Given the description of an element on the screen output the (x, y) to click on. 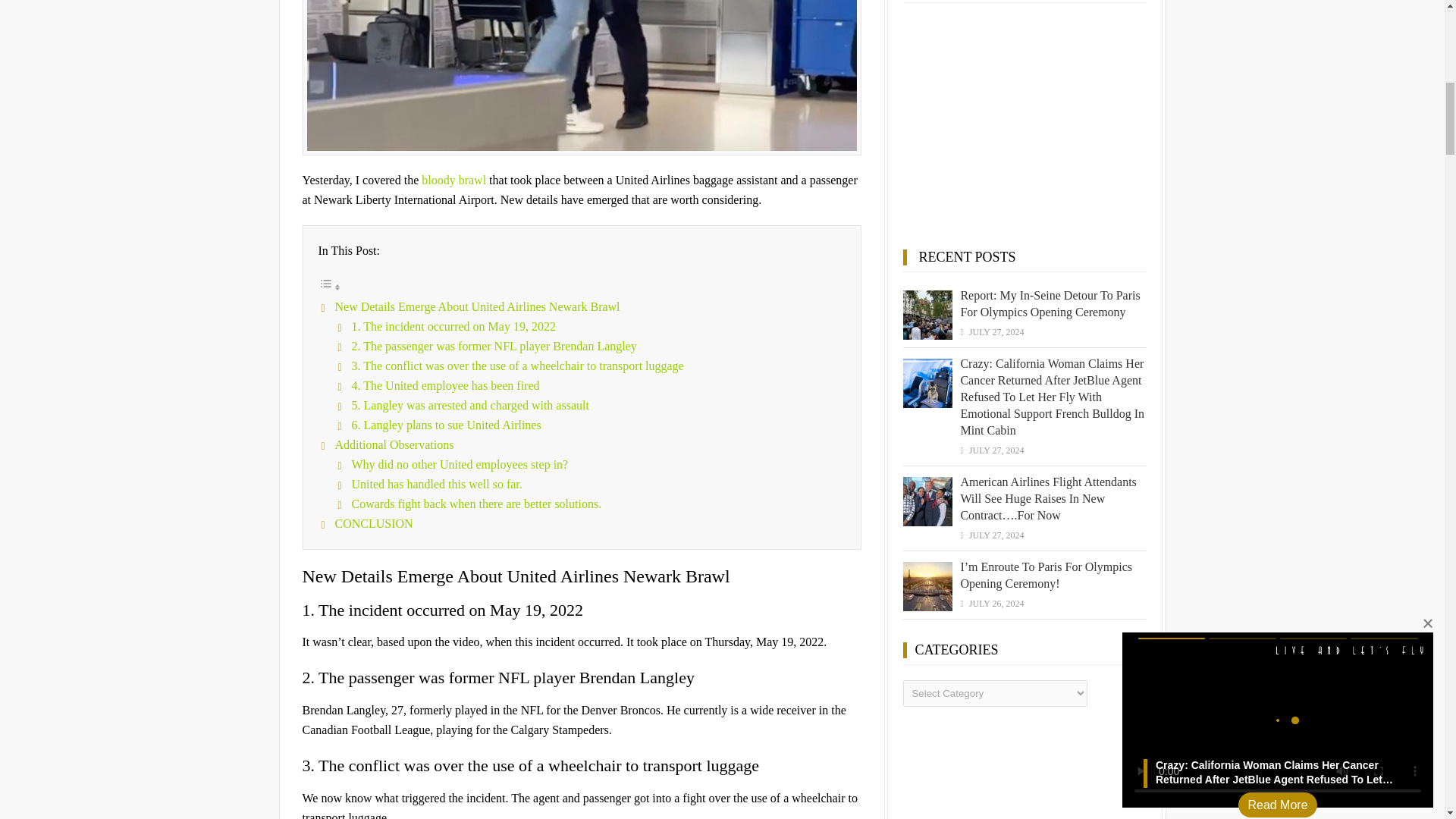
Additional Observations (394, 444)
2. The passenger was former NFL player Brendan Langley (494, 345)
2. The passenger was former NFL player Brendan Langley (494, 345)
New Details Emerge About United Airlines Newark Brawl (477, 306)
Why did no other United employees step in? (460, 463)
6. Langley plans to sue United Airlines (446, 424)
New Details Emerge About United Airlines Newark Brawl (477, 306)
4. The United employee has been fired (446, 385)
1. The incident occurred on May 19, 2022 (454, 326)
1. The incident occurred on May 19, 2022 (454, 326)
Cowards fight back when there are better solutions. (477, 503)
United has handled this well so far. (437, 483)
bloody brawl (454, 179)
